Given the description of an element on the screen output the (x, y) to click on. 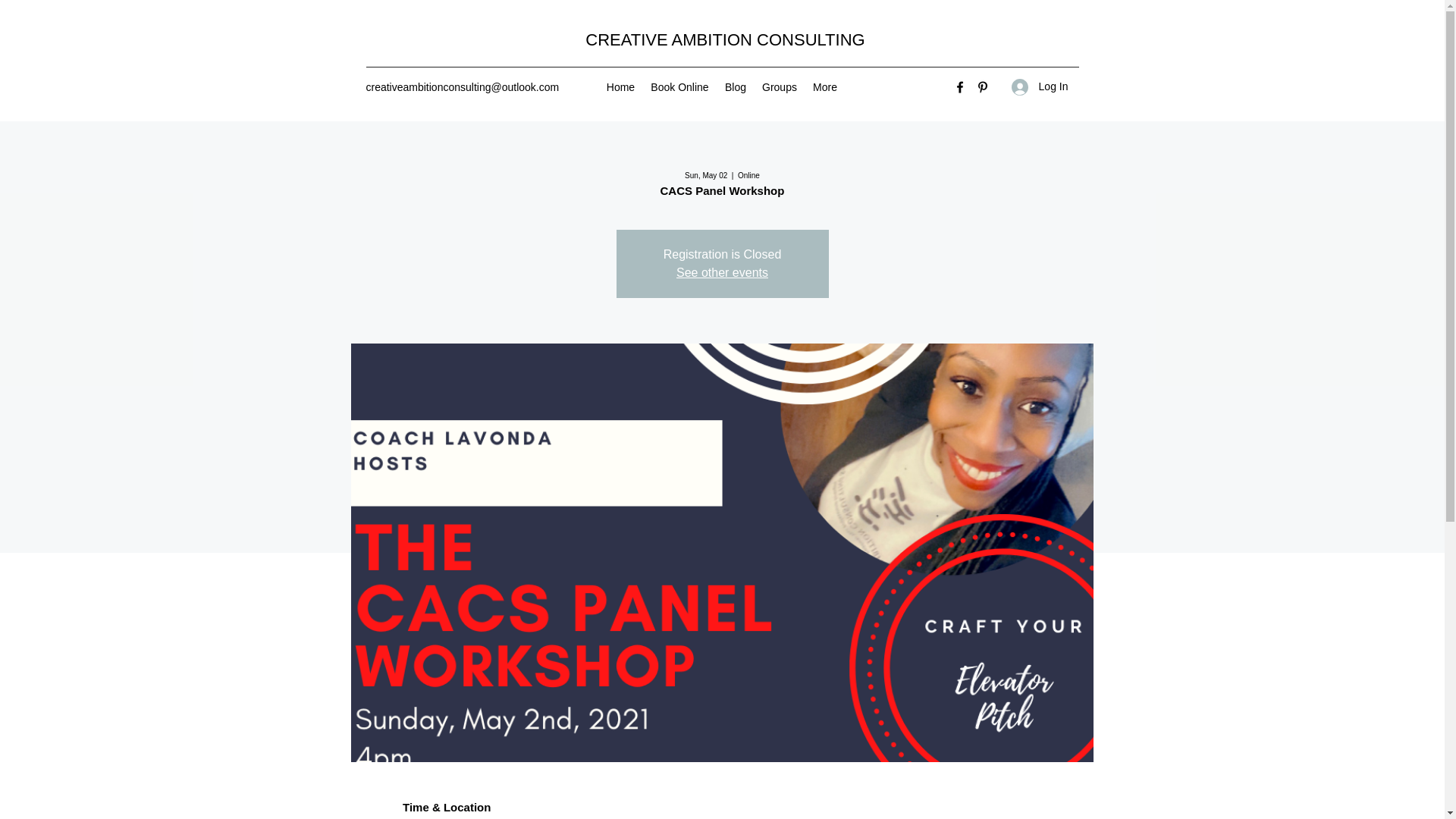
Home (620, 87)
See other events (722, 272)
Blog (735, 87)
Groups (779, 87)
Book Online (680, 87)
CREATIVE AMBITION CONSULTING (724, 39)
Log In (1039, 86)
